Given the description of an element on the screen output the (x, y) to click on. 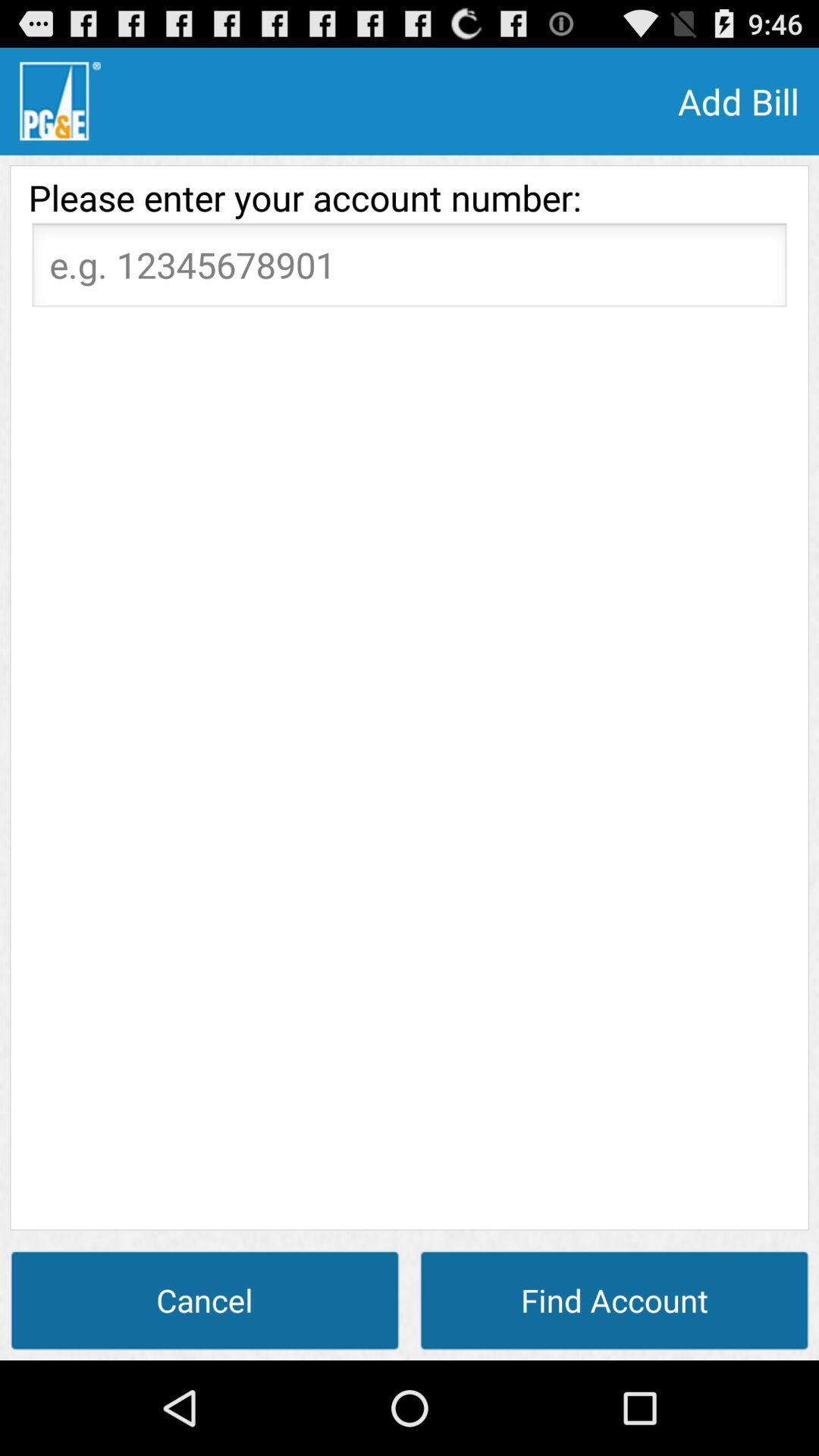
select item to the left of the add bill icon (59, 100)
